Given the description of an element on the screen output the (x, y) to click on. 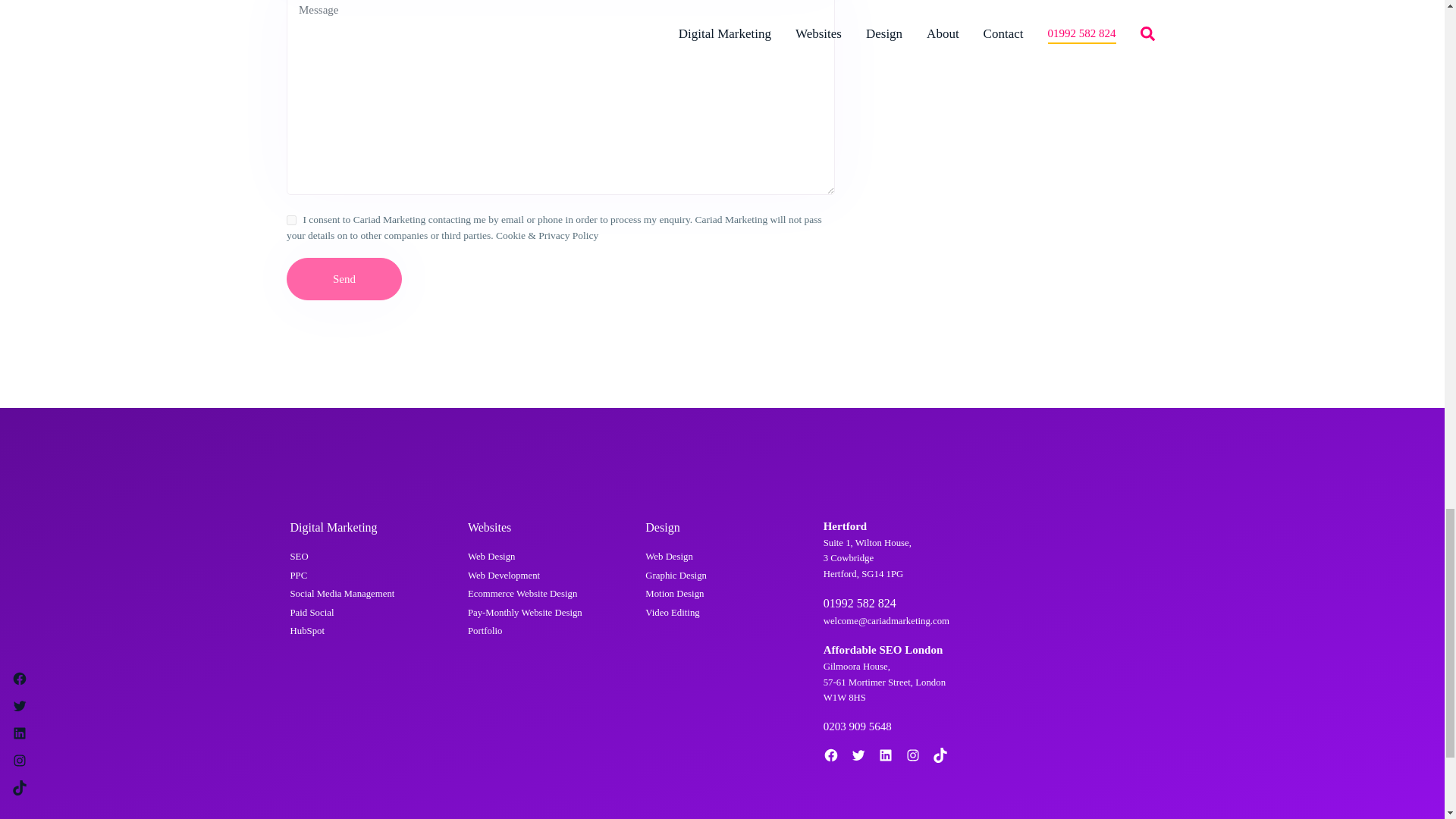
Google Partner Logo (1044, 547)
Cariad Logo (309, 465)
Send (343, 278)
Hubspot Partner Logo (1044, 638)
1 (291, 220)
